Given the description of an element on the screen output the (x, y) to click on. 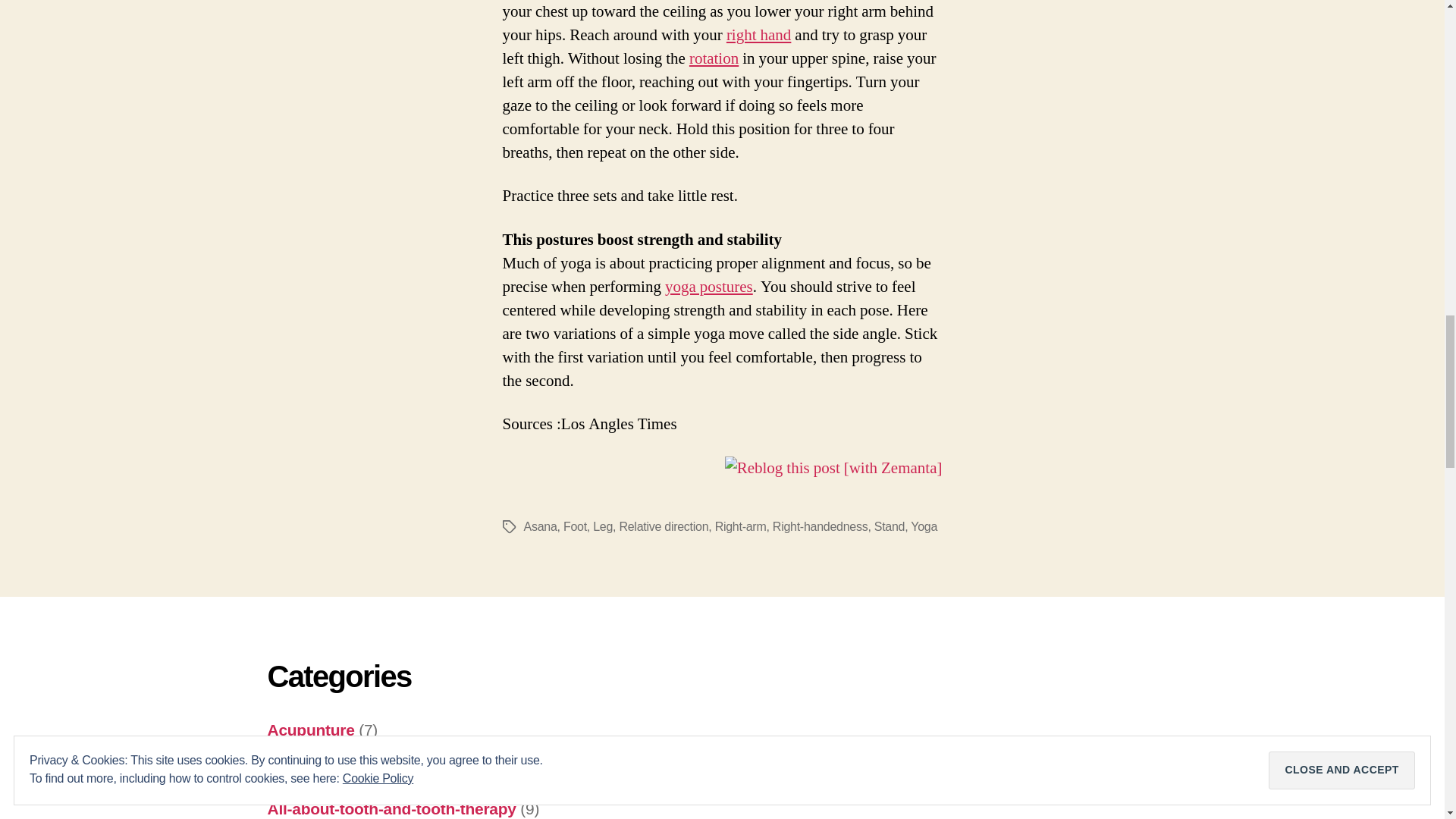
Relative direction (662, 526)
rotation (713, 58)
Asana (708, 286)
yoga postures (708, 286)
Leg (602, 526)
Right-handedness (758, 35)
right hand (758, 35)
Rotation (713, 58)
Stand (889, 526)
Yoga (924, 526)
